Given the description of an element on the screen output the (x, y) to click on. 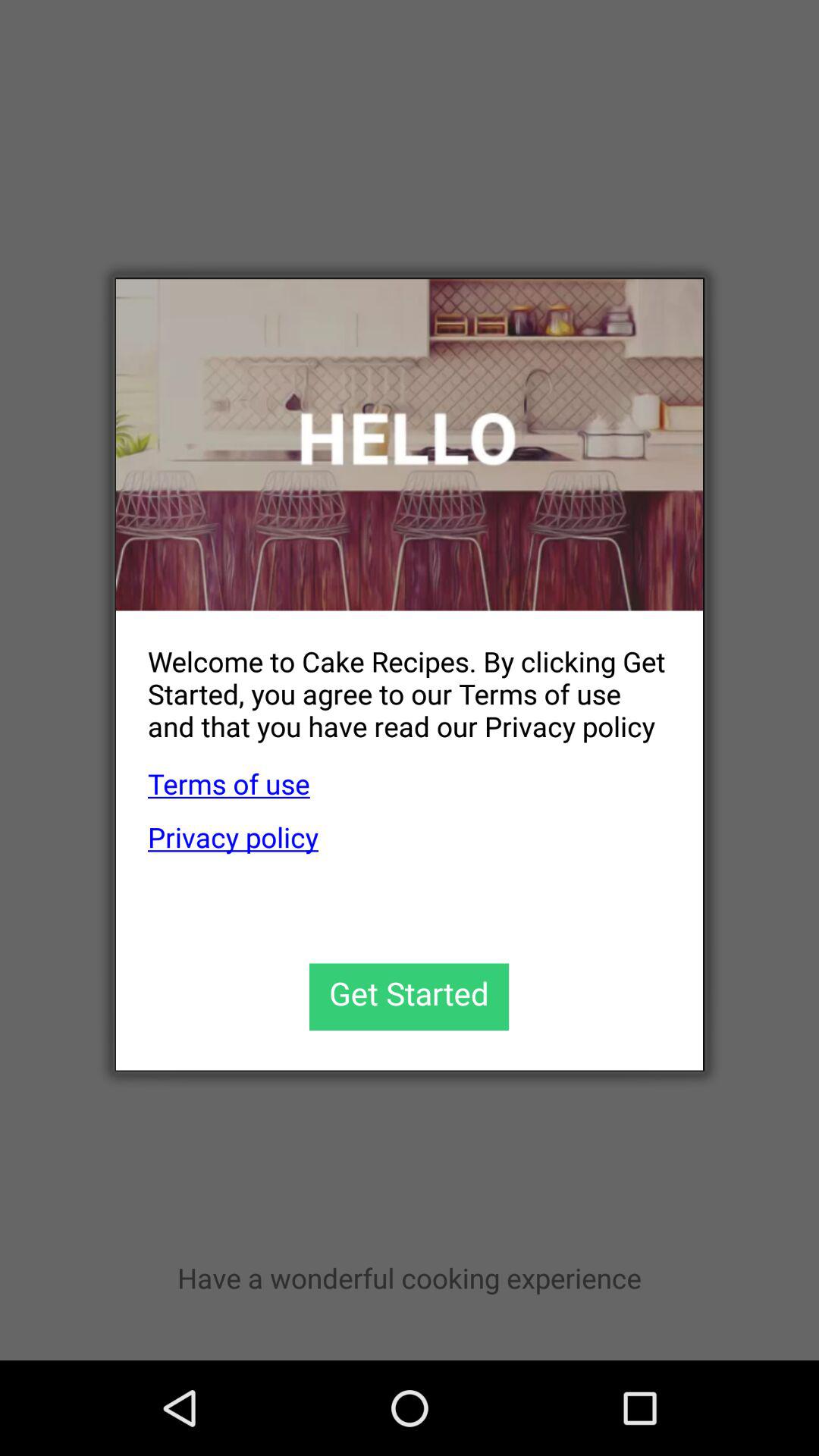
click icon above welcome to cake app (409, 444)
